Given the description of an element on the screen output the (x, y) to click on. 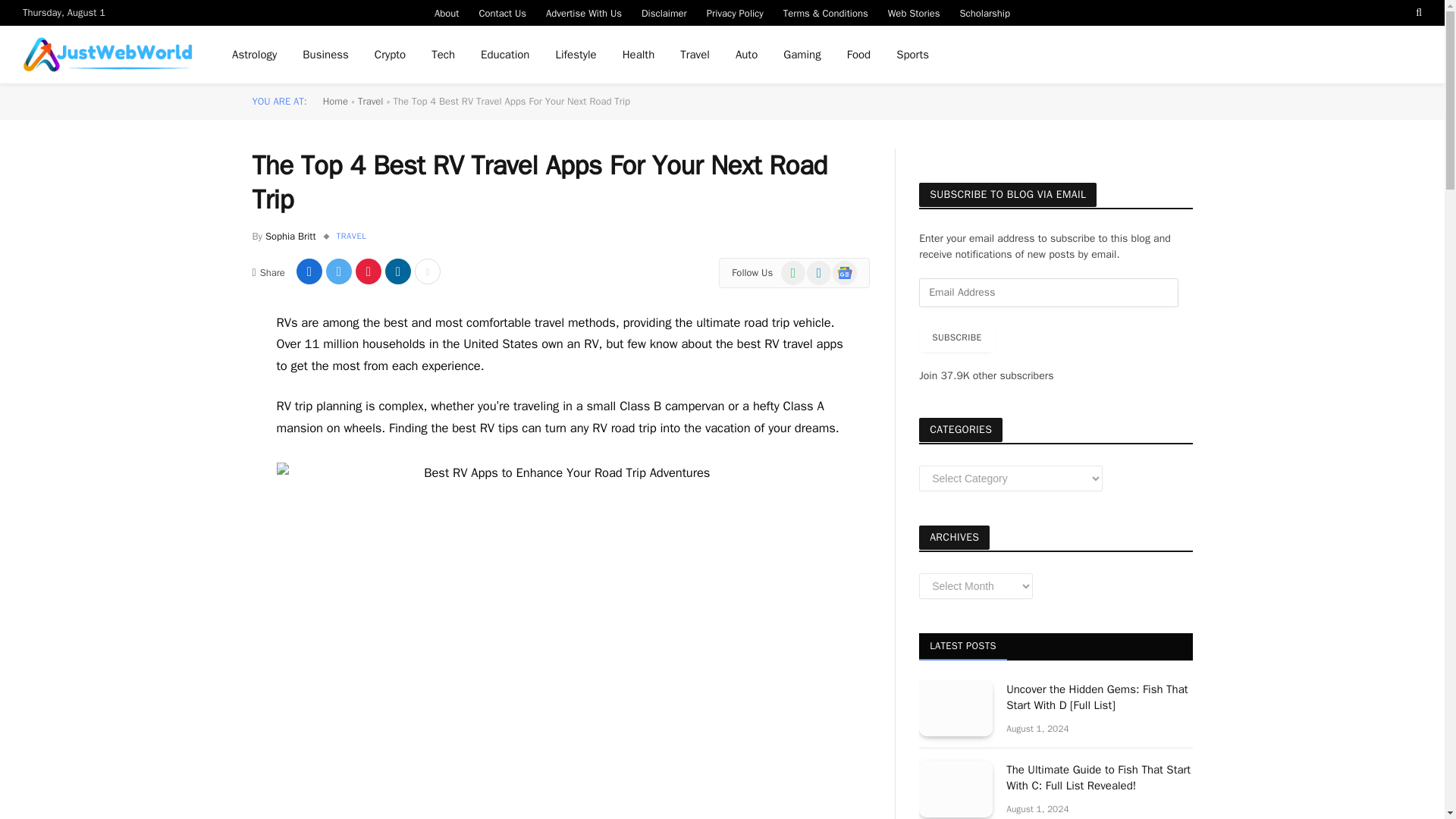
Lifestyle (574, 54)
JustWebWorld (107, 54)
Share on LinkedIn (397, 271)
Contact Us (501, 12)
Share on Facebook (309, 271)
About (446, 12)
Health (639, 54)
Posts by Sophia Britt (289, 236)
Privacy Policy (735, 12)
Sports (912, 54)
Astrology (254, 54)
Disclaimer (664, 12)
Share on Pinterest (368, 271)
Crypto (390, 54)
Show More Social Sharing (427, 271)
